Given the description of an element on the screen output the (x, y) to click on. 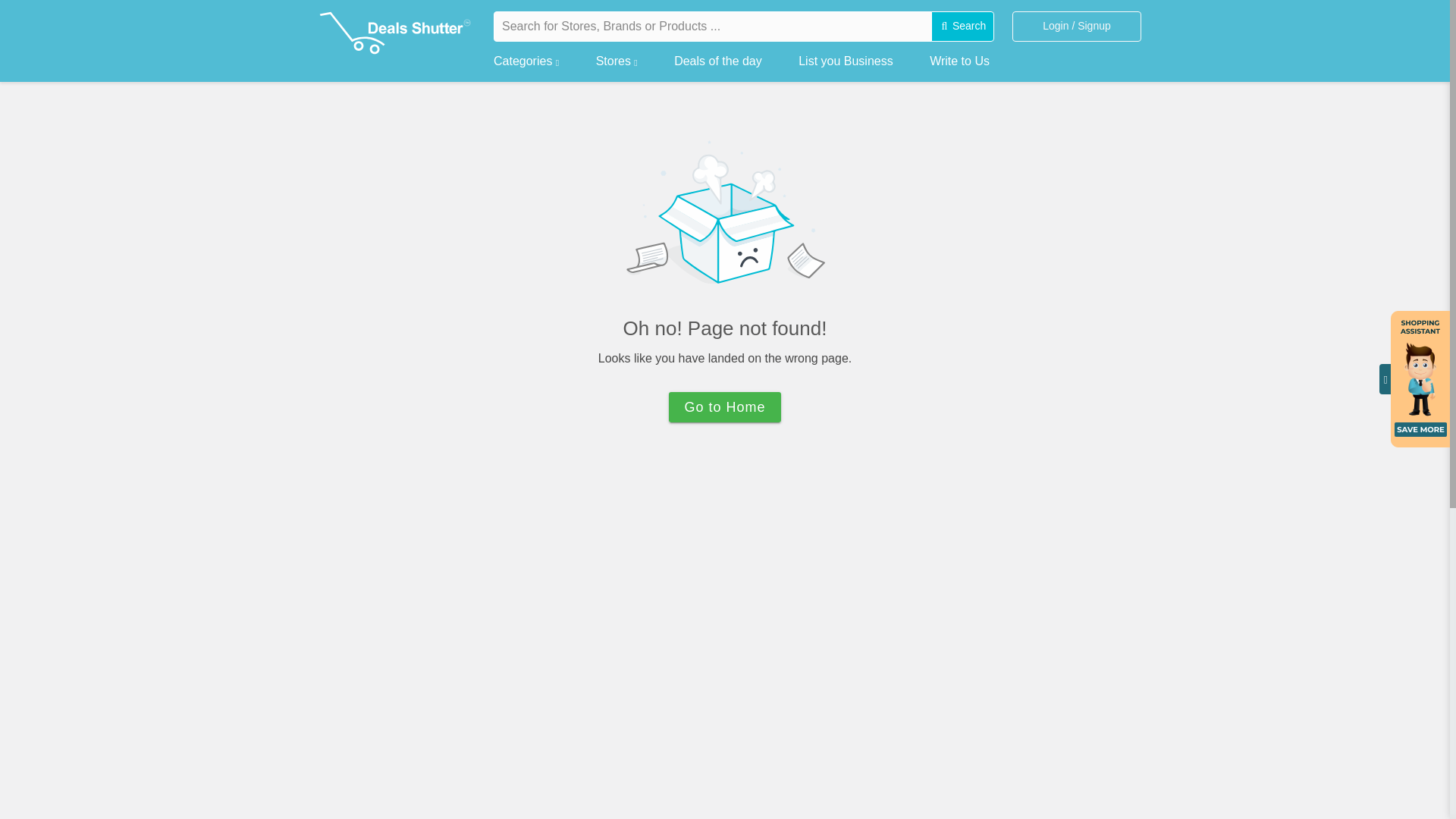
Categories (526, 57)
Search (962, 26)
Categories (526, 57)
